Given the description of an element on the screen output the (x, y) to click on. 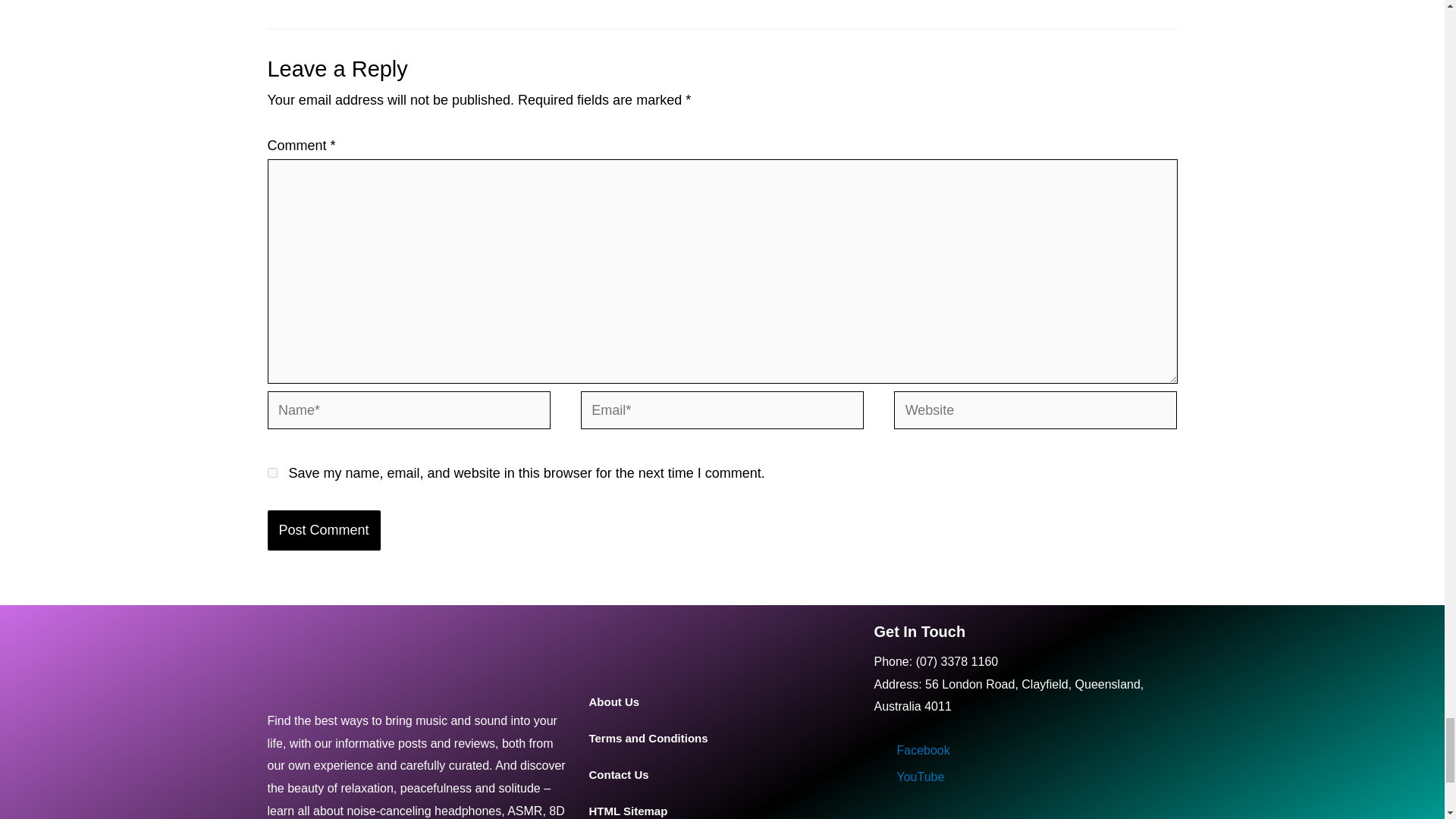
Post Comment (323, 530)
yes (271, 472)
